Given the description of an element on the screen output the (x, y) to click on. 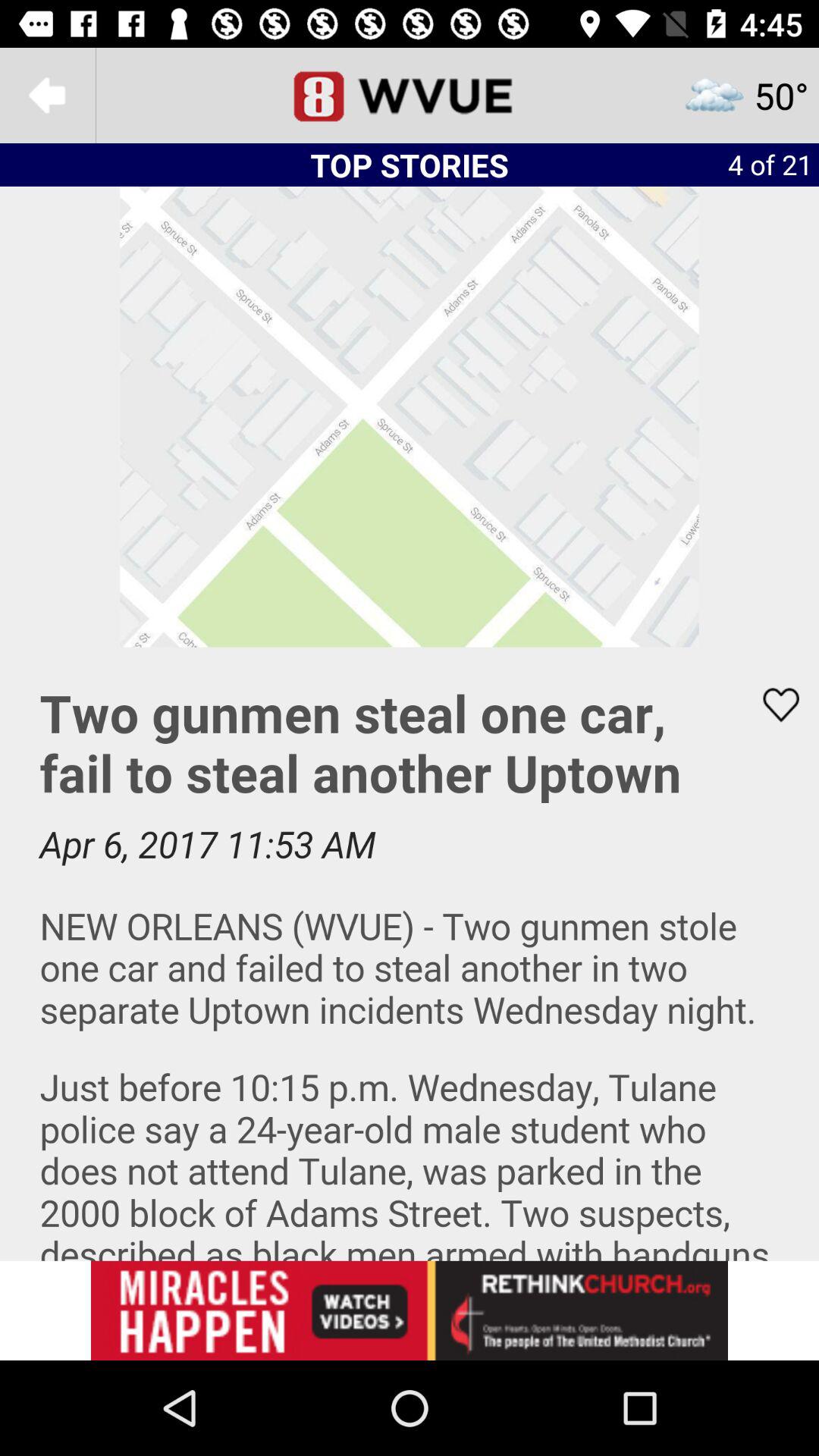
advertisement link (409, 1310)
